Given the description of an element on the screen output the (x, y) to click on. 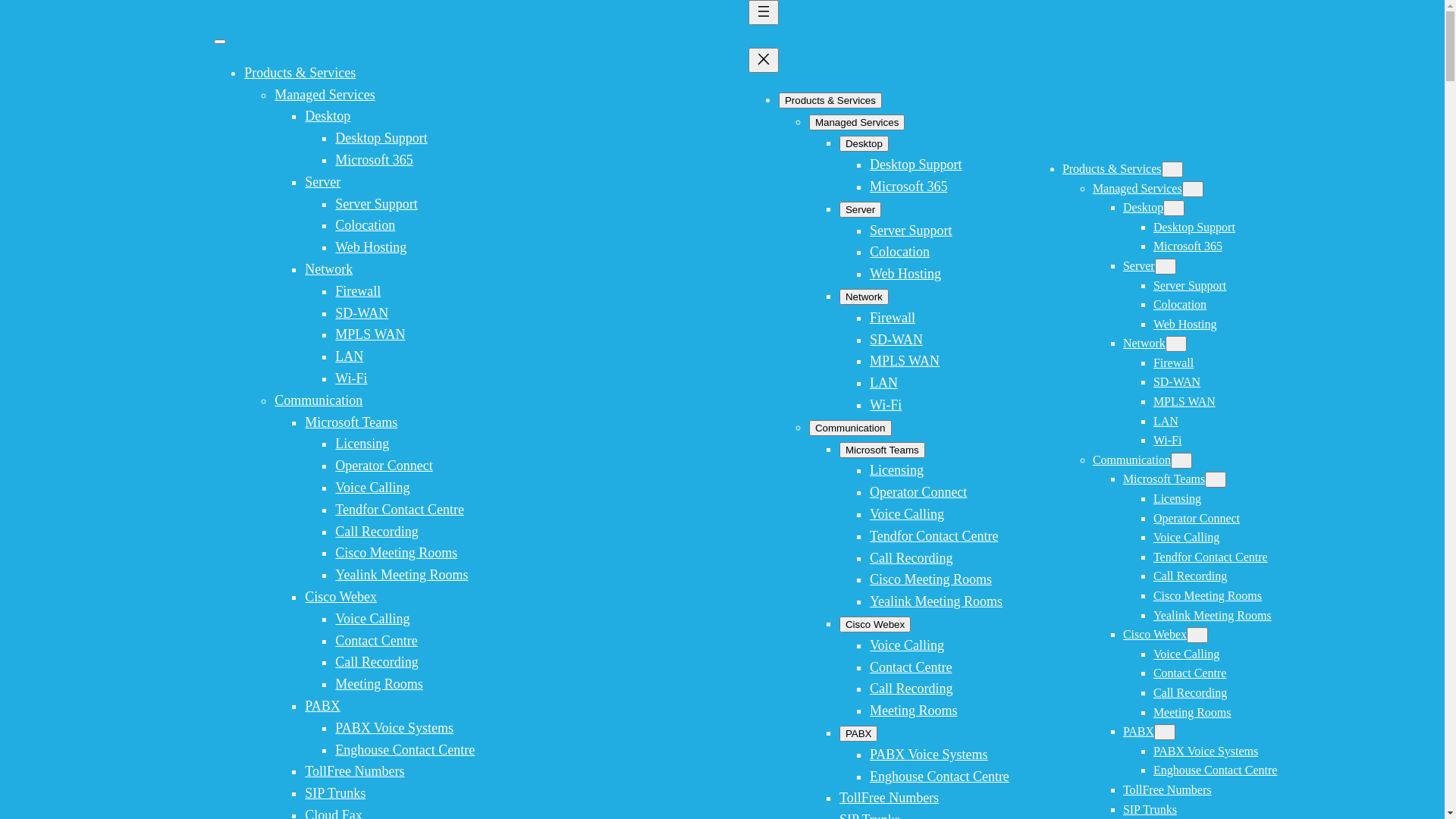
Communication Element type: text (850, 428)
Meeting Rooms Element type: text (379, 683)
Network Element type: text (1144, 342)
Meeting Rooms Element type: text (913, 710)
Voice Calling Element type: text (1186, 653)
Network Element type: text (863, 296)
Yealink Meeting Rooms Element type: text (935, 600)
Operator Connect Element type: text (383, 465)
TollFree Numbers Element type: text (1167, 789)
Microsoft 365 Element type: text (1187, 245)
Call Recording Element type: text (376, 661)
Desktop Element type: text (327, 115)
Microsoft Teams Element type: text (1163, 478)
Voice Calling Element type: text (1186, 536)
Colocation Element type: text (1179, 304)
MPLS WAN Element type: text (1184, 401)
PABX Element type: text (858, 733)
Cisco Webex Element type: text (874, 624)
Wi-Fi Element type: text (1167, 439)
SIP Trunks Element type: text (334, 792)
Contact Centre Element type: text (376, 640)
Colocation Element type: text (365, 224)
Products & Services Element type: text (829, 100)
PABX Element type: text (321, 705)
Web Hosting Element type: text (905, 273)
Cisco Meeting Rooms Element type: text (1207, 595)
Enghouse Contact Centre Element type: text (939, 776)
Managed Services Element type: text (324, 94)
PABX Voice Systems Element type: text (1205, 750)
Enghouse Contact Centre Element type: text (404, 748)
Communication Element type: text (1131, 459)
Wi-Fi Element type: text (351, 377)
SD-WAN Element type: text (895, 339)
PABX Voice Systems Element type: text (928, 754)
Server Element type: text (860, 209)
Firewall Element type: text (1173, 362)
Firewall Element type: text (892, 317)
Voice Calling Element type: text (372, 487)
Call Recording Element type: text (1189, 692)
SD-WAN Element type: text (1176, 381)
Communication Element type: text (318, 399)
Desktop Element type: text (863, 143)
TollFree Numbers Element type: text (354, 770)
Licensing Element type: text (896, 469)
Operator Connect Element type: text (1196, 517)
Voice Calling Element type: text (906, 513)
MPLS WAN Element type: text (369, 334)
Licensing Element type: text (362, 443)
Managed Services Element type: text (1137, 188)
PABX Voice Systems Element type: text (394, 727)
Desktop Support Element type: text (915, 164)
Call Recording Element type: text (376, 531)
Desktop Support Element type: text (381, 137)
SD-WAN Element type: text (361, 312)
Server Element type: text (322, 181)
Yealink Meeting Rooms Element type: text (401, 574)
Voice Calling Element type: text (372, 618)
LAN Element type: text (349, 356)
Call Recording Element type: text (1189, 575)
Managed Services Element type: text (856, 122)
Voice Calling Element type: text (906, 644)
Contact Centre Element type: text (1189, 672)
Desktop Element type: text (1143, 206)
Wi-Fi Element type: text (885, 404)
Cisco Webex Element type: text (1154, 633)
Call Recording Element type: text (910, 688)
Firewall Element type: text (357, 290)
Meeting Rooms Element type: text (1192, 712)
Colocation Element type: text (899, 251)
Enghouse Contact Centre Element type: text (1215, 769)
Web Hosting Element type: text (1185, 323)
PABX Element type: text (1138, 730)
LAN Element type: text (883, 382)
Server Support Element type: text (376, 203)
Desktop Support Element type: text (1194, 226)
MPLS WAN Element type: text (904, 360)
Tendfor Contact Centre Element type: text (933, 535)
Licensing Element type: text (1177, 498)
Microsoft 365 Element type: text (908, 186)
Cisco Meeting Rooms Element type: text (930, 578)
Network Element type: text (328, 268)
Operator Connect Element type: text (917, 491)
LAN Element type: text (1165, 420)
Products & Services Element type: text (299, 72)
Tendfor Contact Centre Element type: text (399, 509)
Microsoft 365 Element type: text (374, 159)
Cisco Webex Element type: text (340, 596)
TollFree Numbers Element type: text (888, 797)
Server Support Element type: text (1189, 285)
Products & Services Element type: text (1111, 168)
Call Recording Element type: text (910, 557)
Web Hosting Element type: text (370, 246)
Microsoft Teams Element type: text (882, 450)
Contact Centre Element type: text (910, 666)
Microsoft Teams Element type: text (350, 421)
Server Element type: text (1138, 265)
Tendfor Contact Centre Element type: text (1210, 556)
Yealink Meeting Rooms Element type: text (1212, 614)
Server Support Element type: text (910, 230)
Cisco Meeting Rooms Element type: text (396, 552)
SIP Trunks Element type: text (1149, 809)
